Given the description of an element on the screen output the (x, y) to click on. 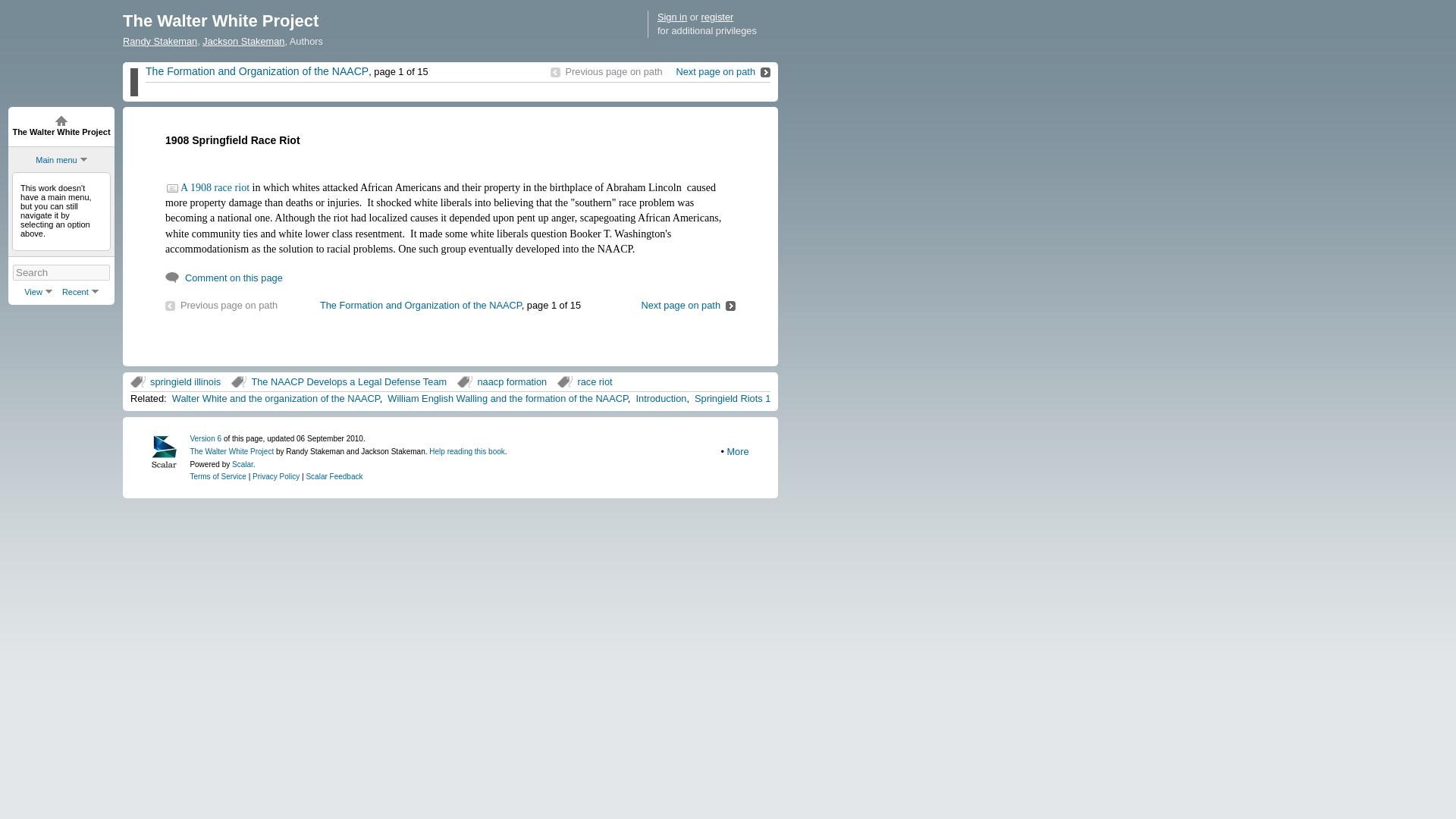
springield illinois (176, 381)
Comment on this page (223, 277)
Introduction (659, 398)
William English Walling and the formation of the NAACP (722, 71)
A 1908 race riot (206, 186)
Next page on path (687, 305)
How the Association came to be (249, 70)
Main menu (55, 159)
Randy Stakeman (159, 41)
Recent (80, 291)
Search (61, 272)
William English Walling and the formation of the NAACP (507, 398)
Go to permalink (205, 438)
Next page on path (722, 71)
Sign in (672, 16)
